Given the description of an element on the screen output the (x, y) to click on. 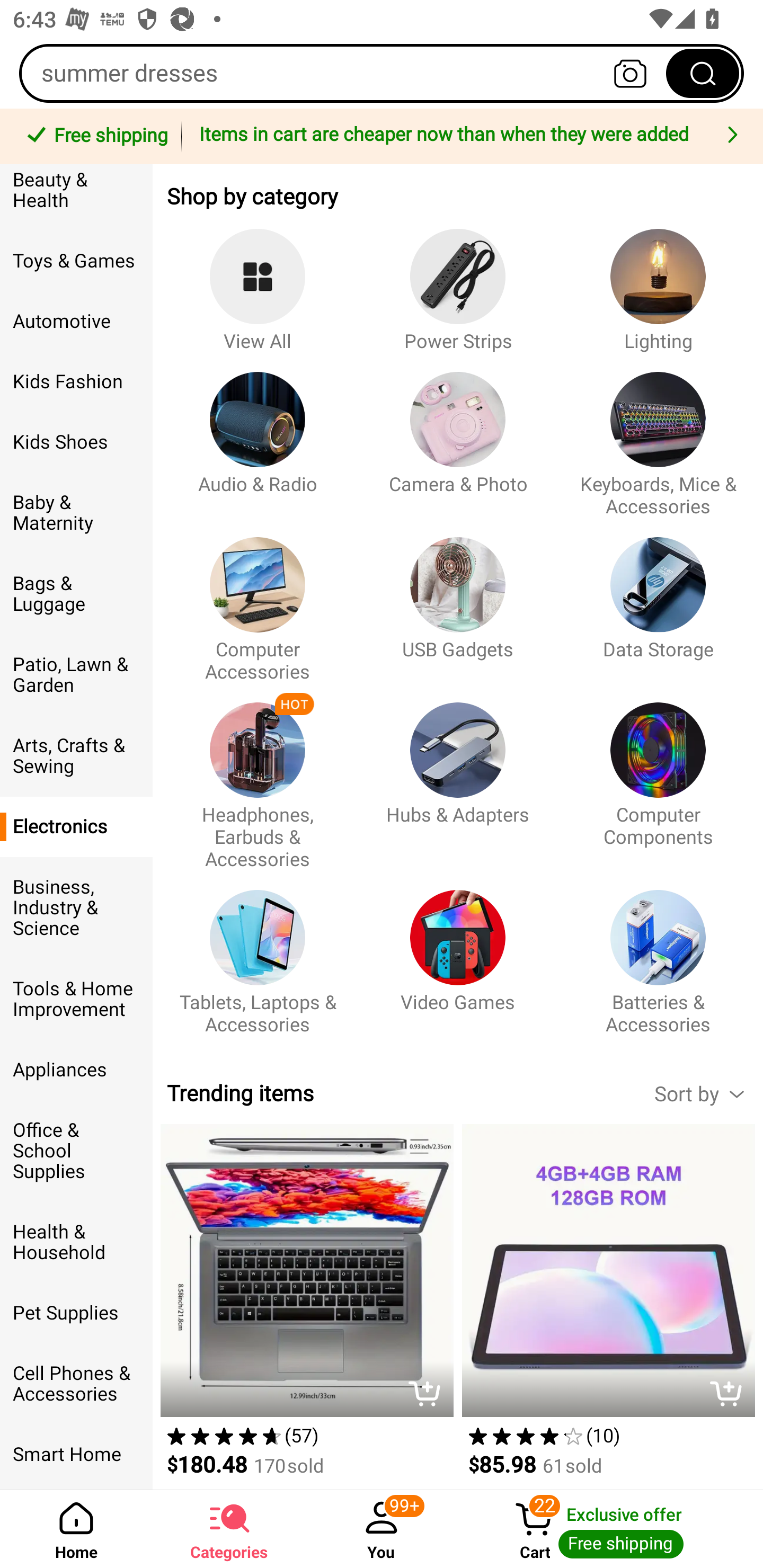
summer dresses (381, 73)
 Free shipping (93, 136)
Beauty & Health (76, 197)
View All (257, 281)
Power Strips (457, 281)
Lighting (657, 281)
Toys & Games (76, 260)
Automotive (76, 321)
Kids Fashion (76, 381)
Audio & Radio (257, 434)
Camera & Photo (457, 434)
Keyboards, Mice & Accessories (657, 434)
Kids Shoes (76, 441)
Baby & Maternity (76, 512)
Computer Accessories (257, 600)
USB Gadgets (457, 600)
Data Storage (657, 600)
Bags & Luggage (76, 594)
Patio, Lawn & Garden (76, 675)
Headphones, Earbuds & Accessories (257, 776)
Hubs & Adapters (457, 776)
Computer Components (657, 776)
Arts, Crafts & Sewing (76, 755)
Electronics (76, 826)
Business, Industry & Science (76, 907)
Tablets, Laptops & Accessories (257, 953)
Video Games (457, 953)
Batteries & Accessories (657, 953)
Tools & Home Improvement (76, 998)
Appliances (76, 1069)
Sort by (708, 1093)
Office & School Supplies (76, 1151)
delete (57) $180.48 170￼sold (306, 1306)
delete (10) $85.98 61￼sold (608, 1306)
Health & Household (76, 1242)
Pet Supplies (76, 1312)
Cell Phones & Accessories (76, 1383)
delete (429, 1395)
delete (731, 1395)
Smart Home (76, 1453)
Home (76, 1528)
Categories (228, 1528)
You ‎99+‎ You (381, 1528)
Cart 22 Cart Exclusive offer (610, 1528)
